Given the description of an element on the screen output the (x, y) to click on. 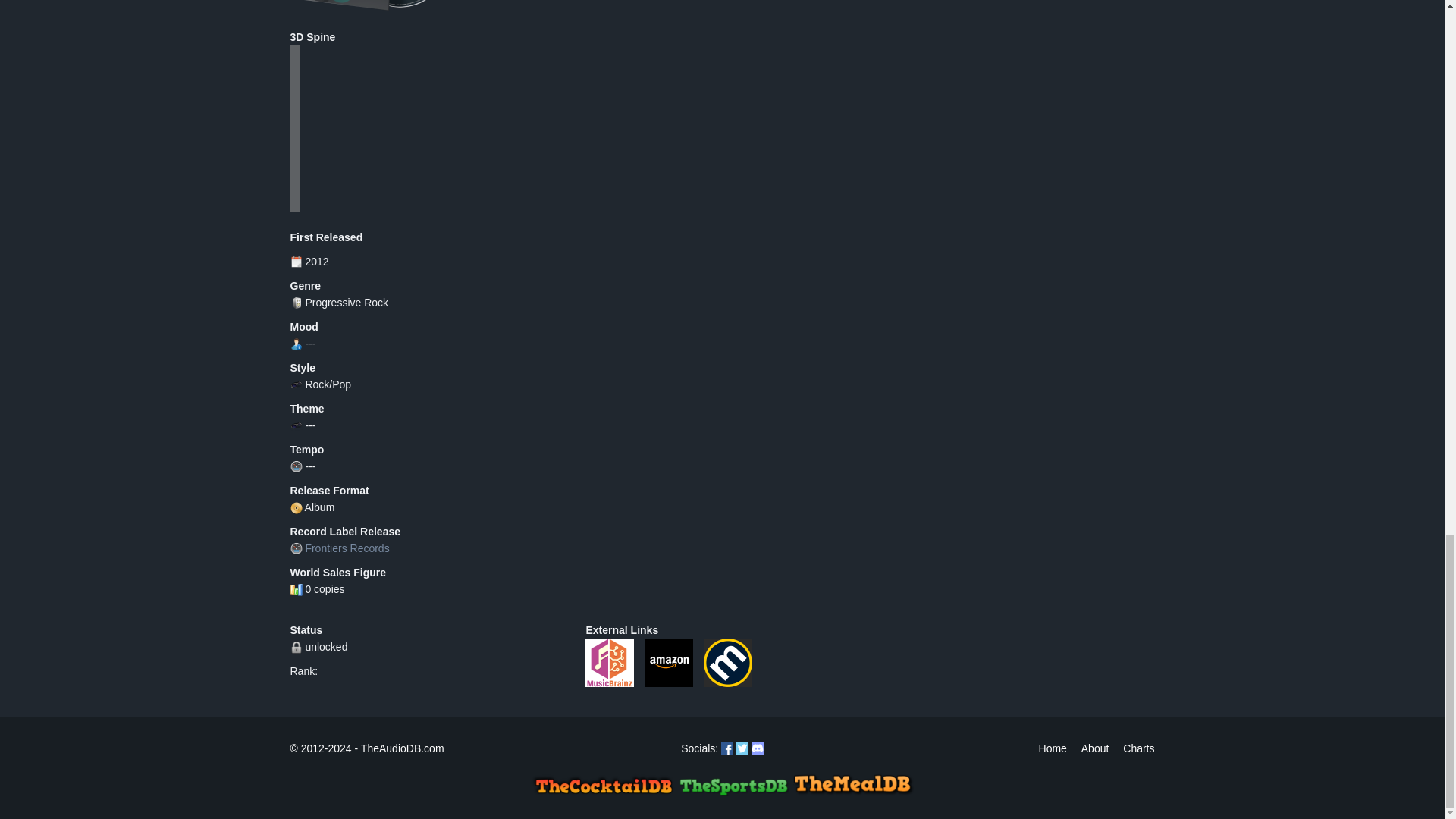
TheAudioDB.com (398, 748)
